Given the description of an element on the screen output the (x, y) to click on. 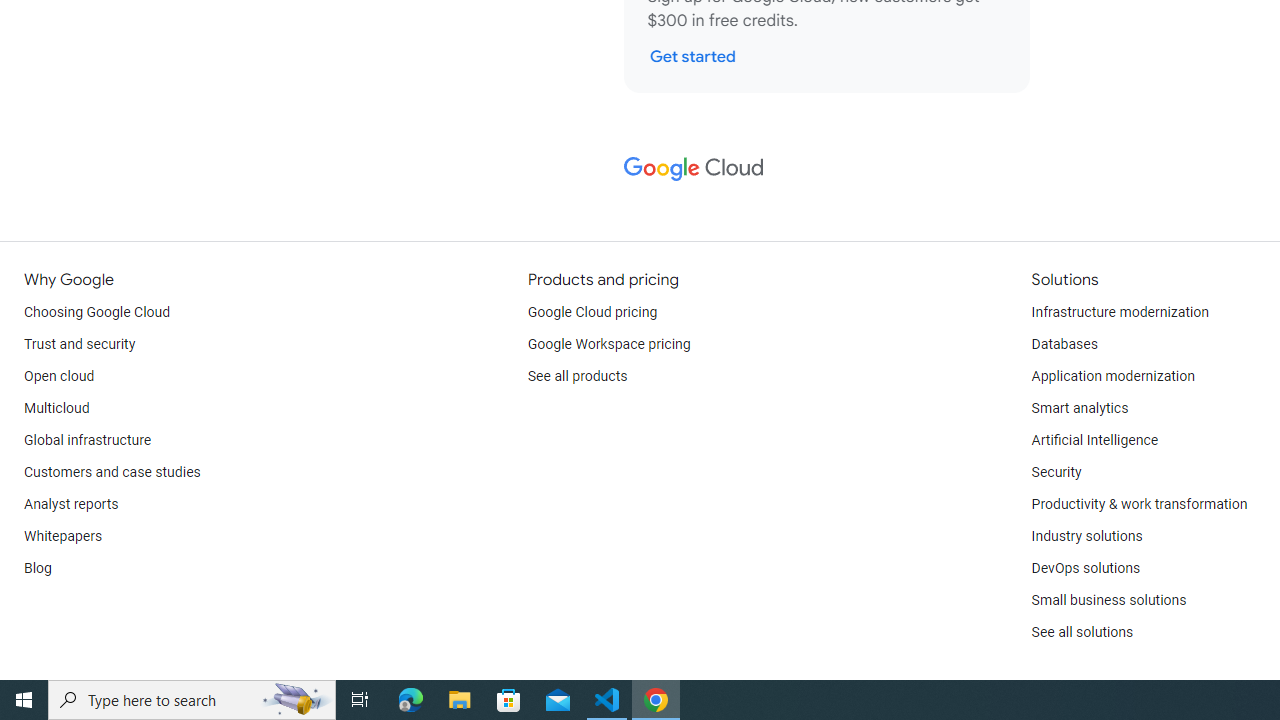
Productivity & work transformation (1139, 504)
Customers and case studies (112, 472)
Google Cloud (692, 168)
Multicloud (56, 408)
Google Cloud pricing (592, 312)
Small business solutions (1108, 600)
See all products (577, 376)
Choosing Google Cloud (97, 312)
Artificial Intelligence (1094, 440)
Trust and security (79, 344)
Databases (1064, 344)
Blog (38, 568)
Smart analytics (1079, 408)
Application modernization (1112, 376)
Google Workspace pricing (609, 344)
